Given the description of an element on the screen output the (x, y) to click on. 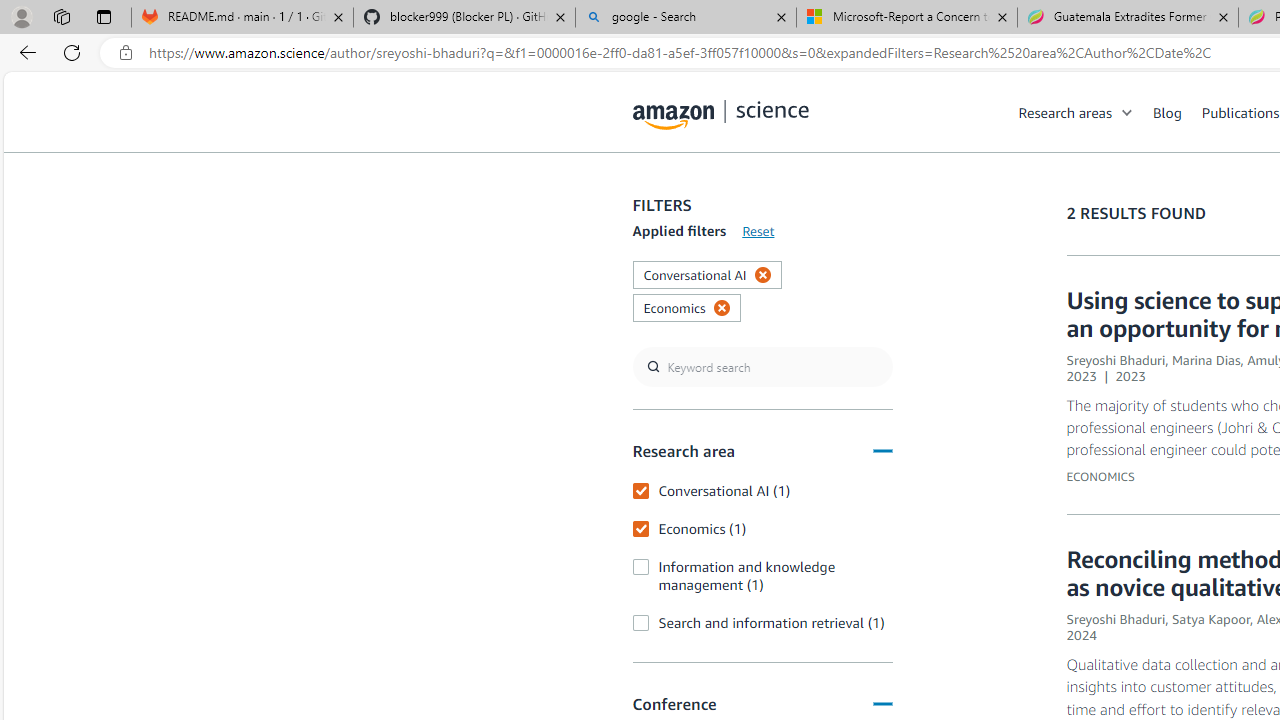
Open Sub Navigation (1128, 111)
Sreyoshi Bhaduri (1116, 619)
Blog (1167, 111)
amazon-science-logo.svg (721, 115)
Research areas (1065, 111)
